Given the description of an element on the screen output the (x, y) to click on. 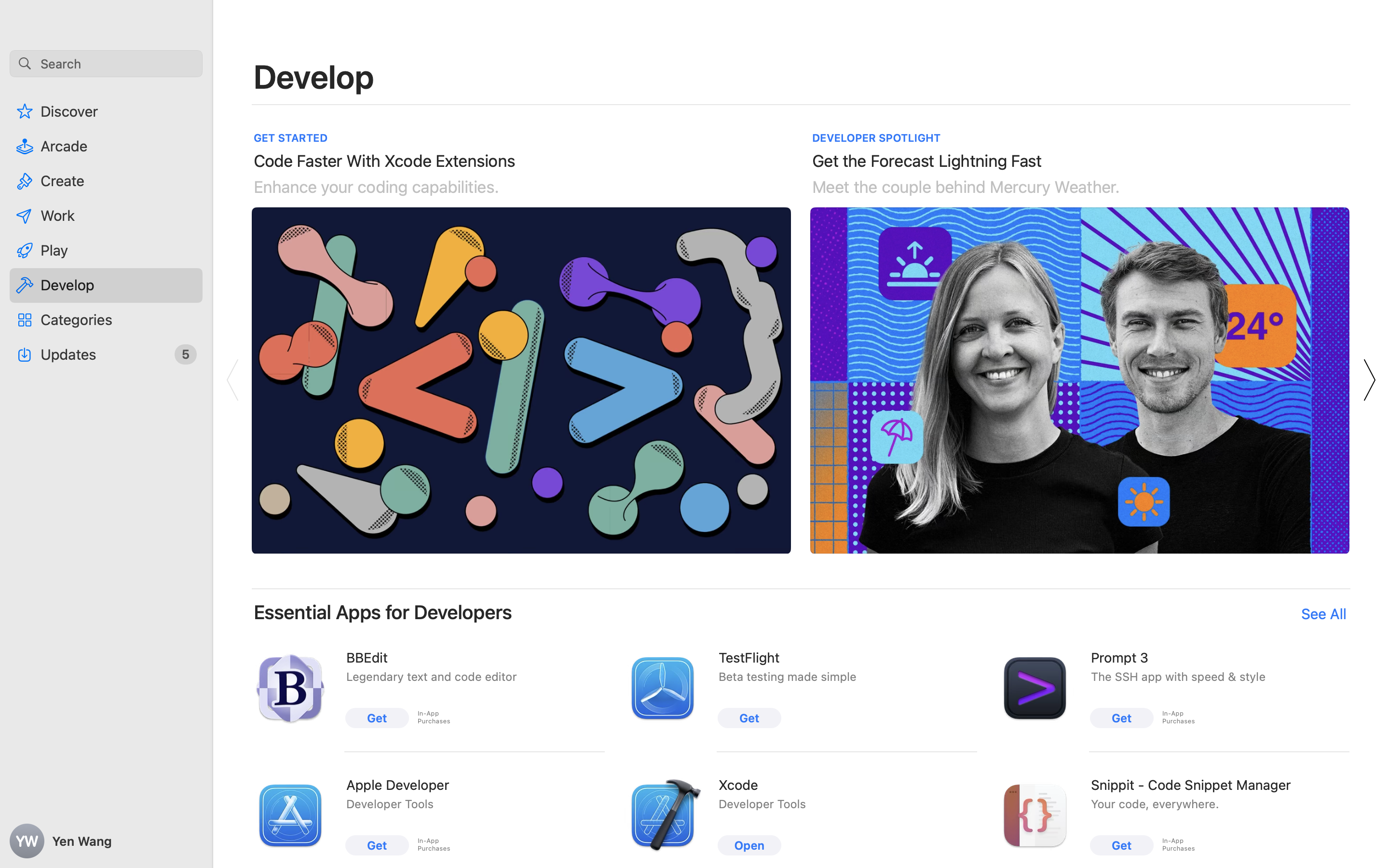
Yen Wang Element type: AXButton (106, 840)
Essential Apps for Developers Element type: AXStaticText (382, 611)
Develop Element type: AXStaticText (314, 75)
